Given the description of an element on the screen output the (x, y) to click on. 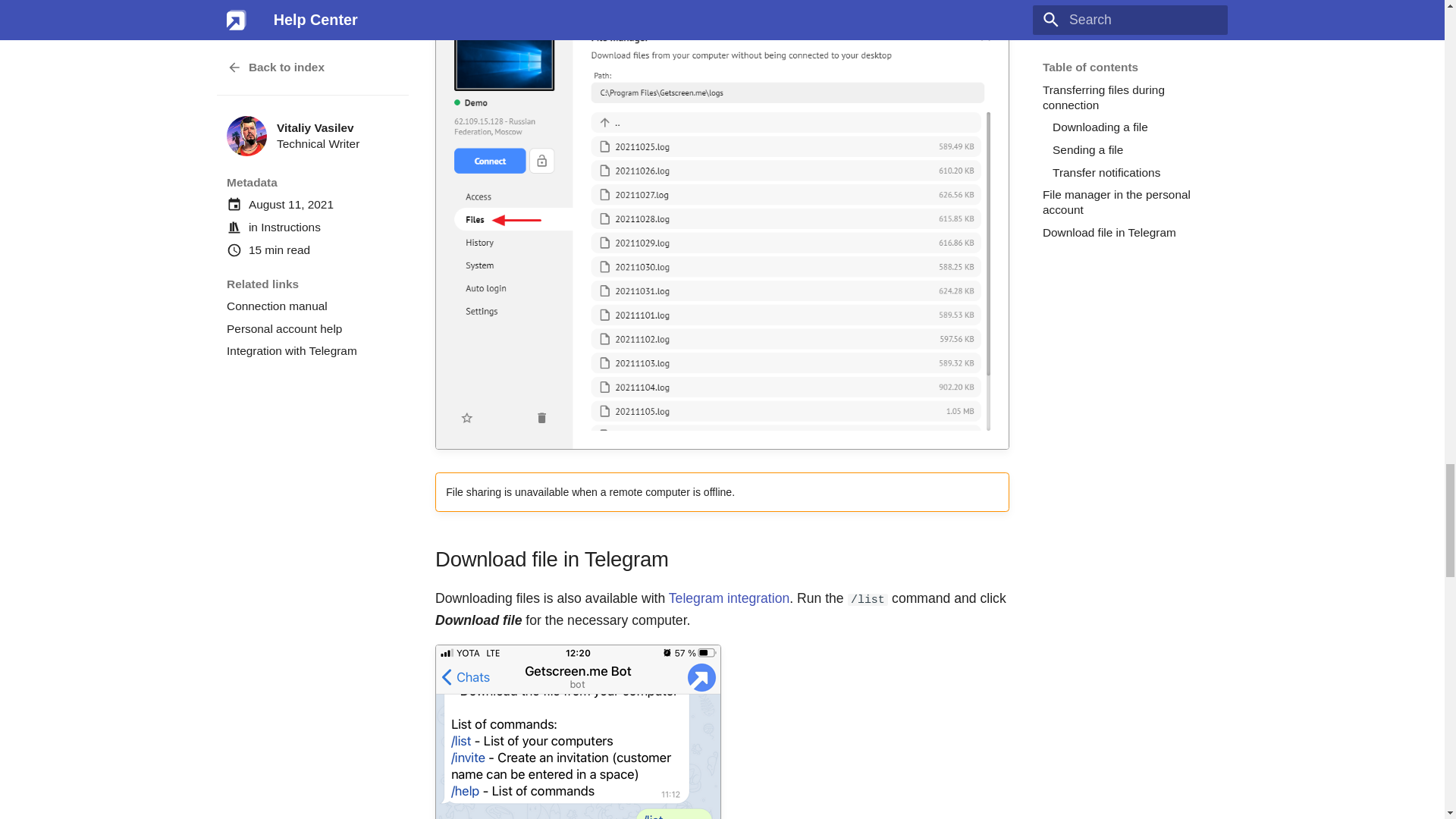
Telegram integration (728, 598)
